Given the description of an element on the screen output the (x, y) to click on. 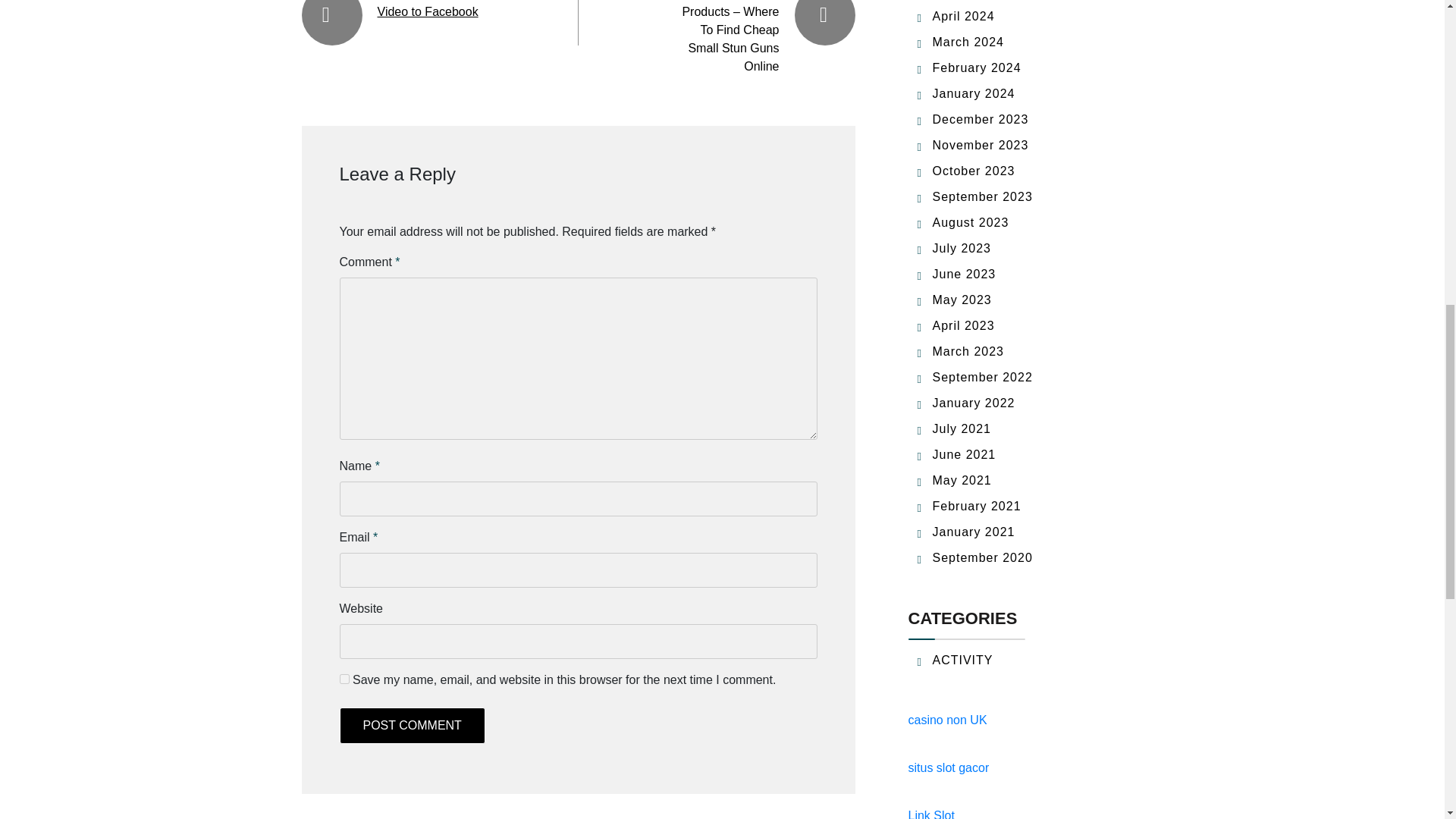
Moving a YouTube Video to Facebook (428, 9)
Post Comment (411, 725)
February 2024 (977, 67)
yes (344, 678)
September 2023 (982, 196)
April 2024 (963, 15)
December 2023 (981, 119)
January 2024 (973, 92)
March 2024 (968, 42)
October 2023 (973, 170)
Post Comment (411, 725)
November 2023 (981, 144)
